Given the description of an element on the screen output the (x, y) to click on. 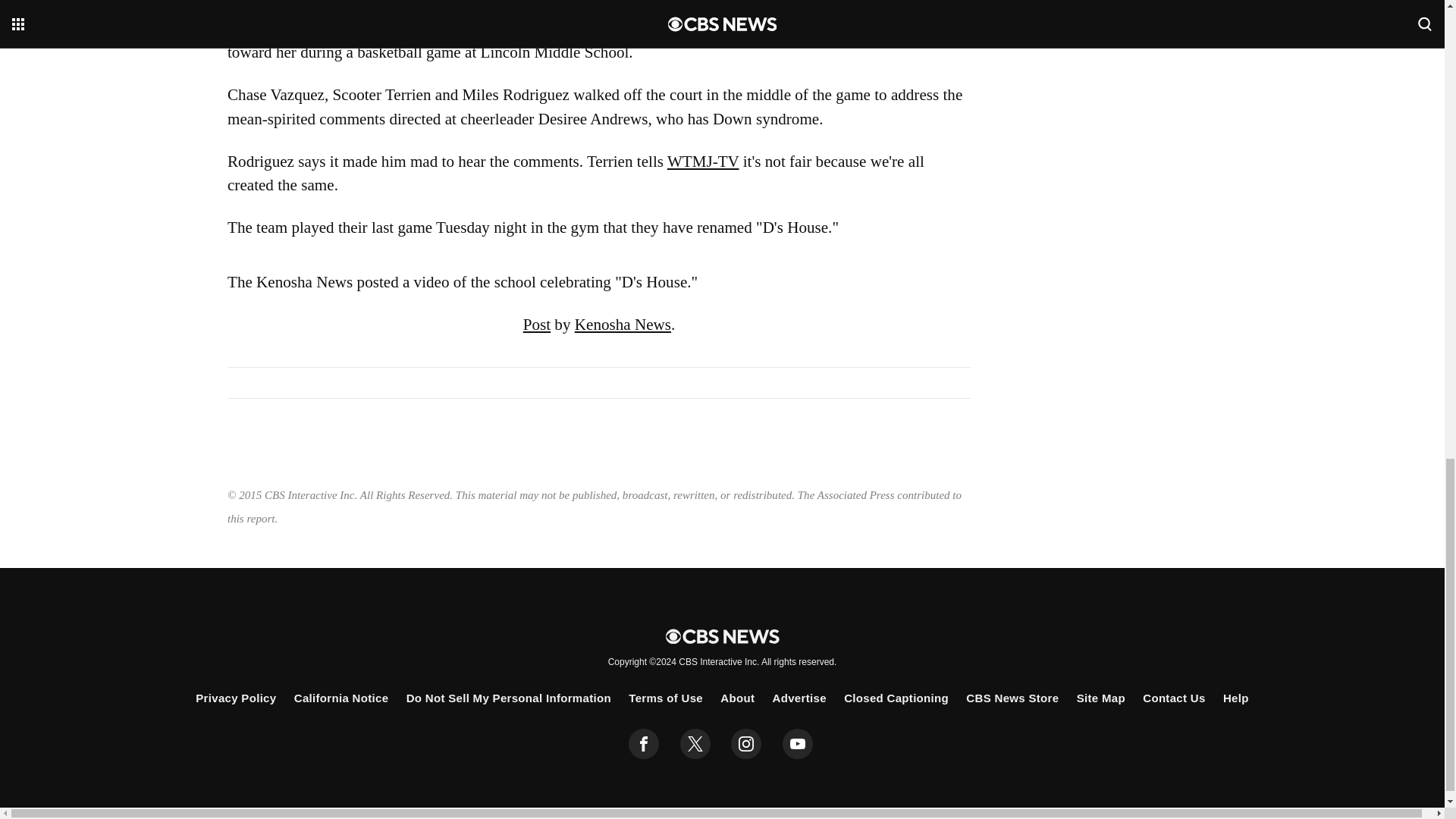
twitter (694, 743)
youtube (797, 743)
facebook (643, 743)
instagram (745, 743)
